Given the description of an element on the screen output the (x, y) to click on. 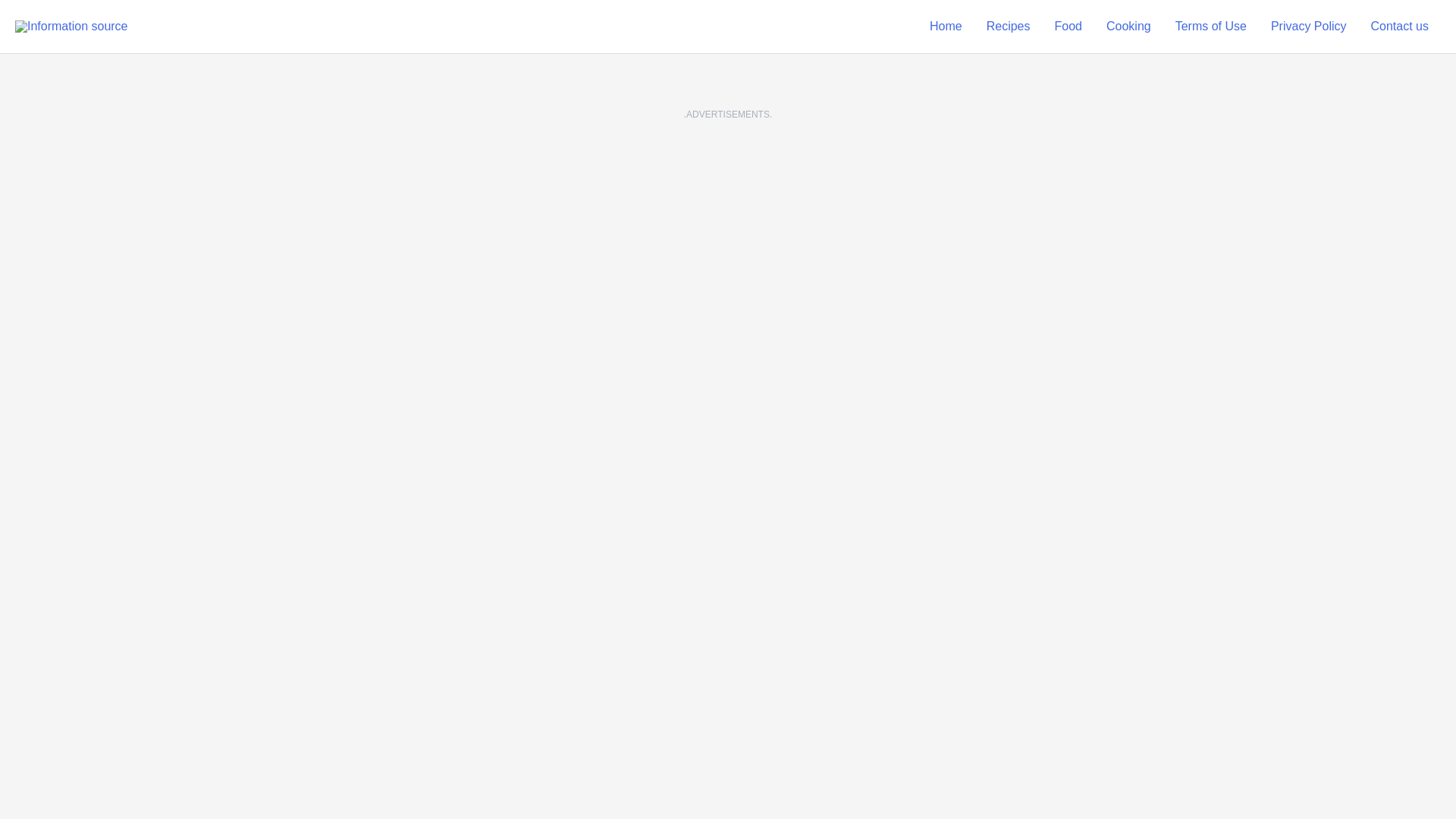
Cooking (1128, 26)
Privacy Policy (1308, 26)
Food (1068, 26)
Contact us (1399, 26)
Home (945, 26)
Terms of Use (1211, 26)
Recipes (1008, 26)
